Given the description of an element on the screen output the (x, y) to click on. 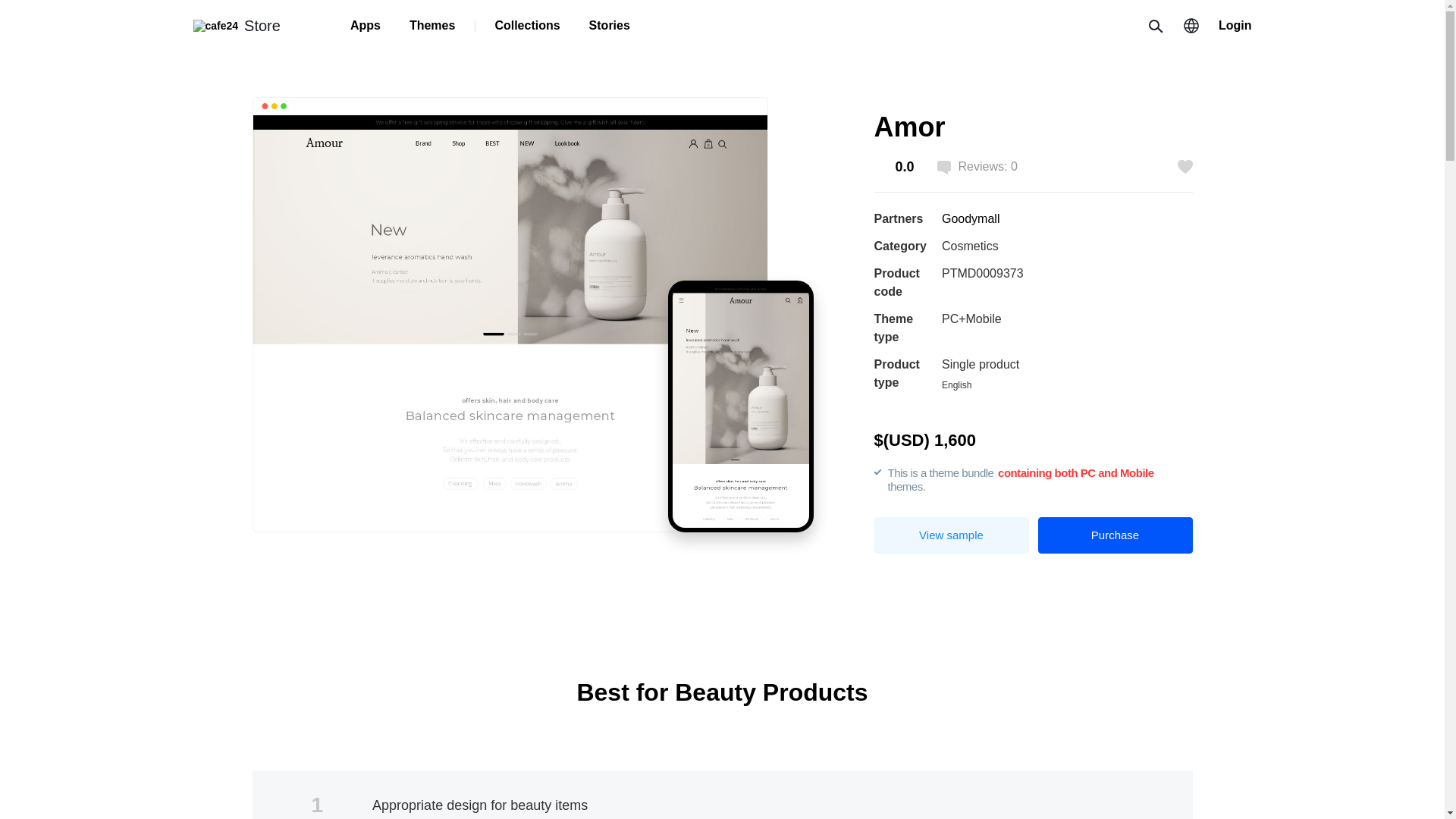
Themes (432, 25)
Apps (365, 25)
Store (235, 24)
Login (1235, 25)
Search (1154, 25)
Region (1190, 25)
